Given the description of an element on the screen output the (x, y) to click on. 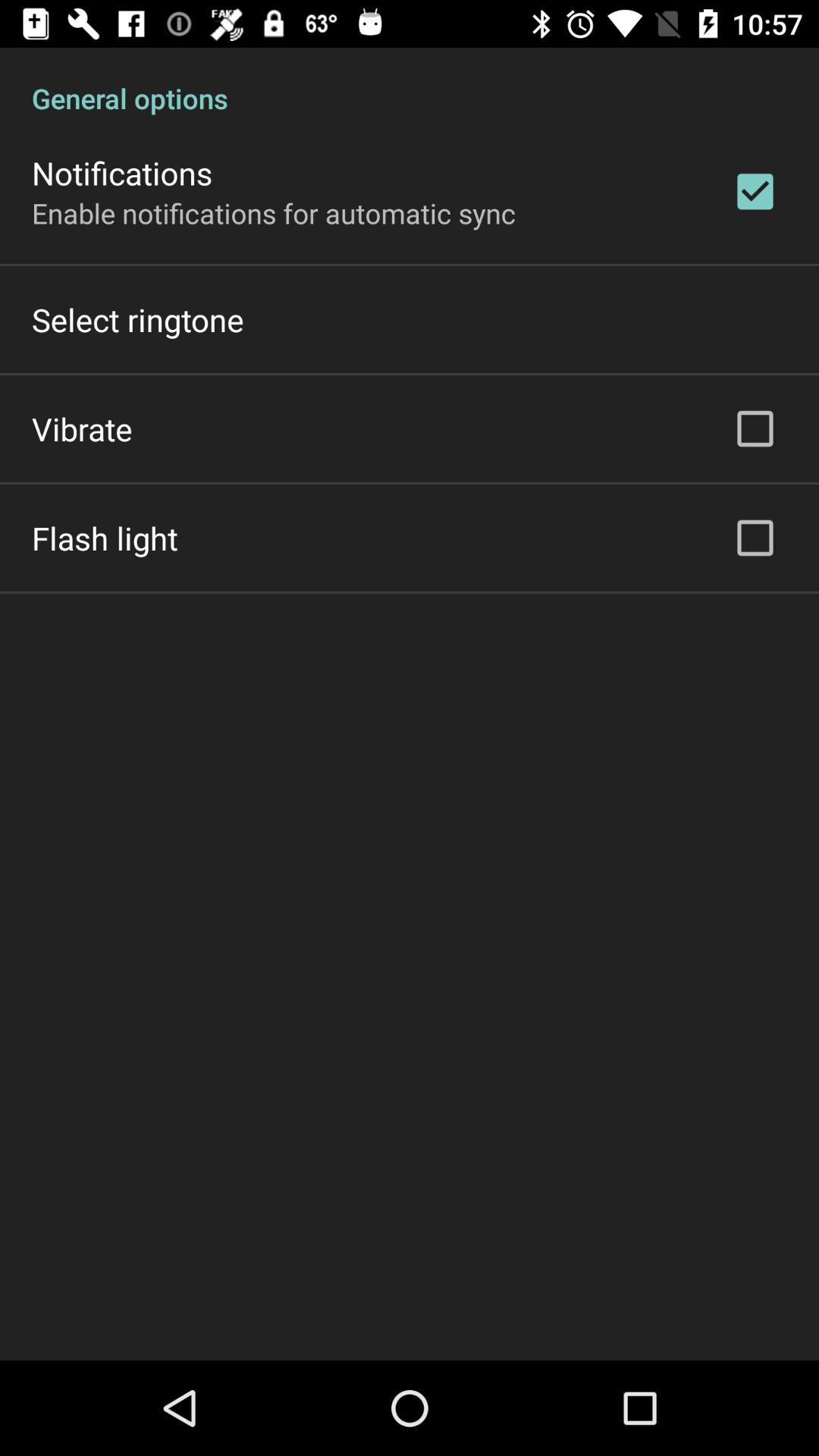
tap the item below enable notifications for item (137, 319)
